Given the description of an element on the screen output the (x, y) to click on. 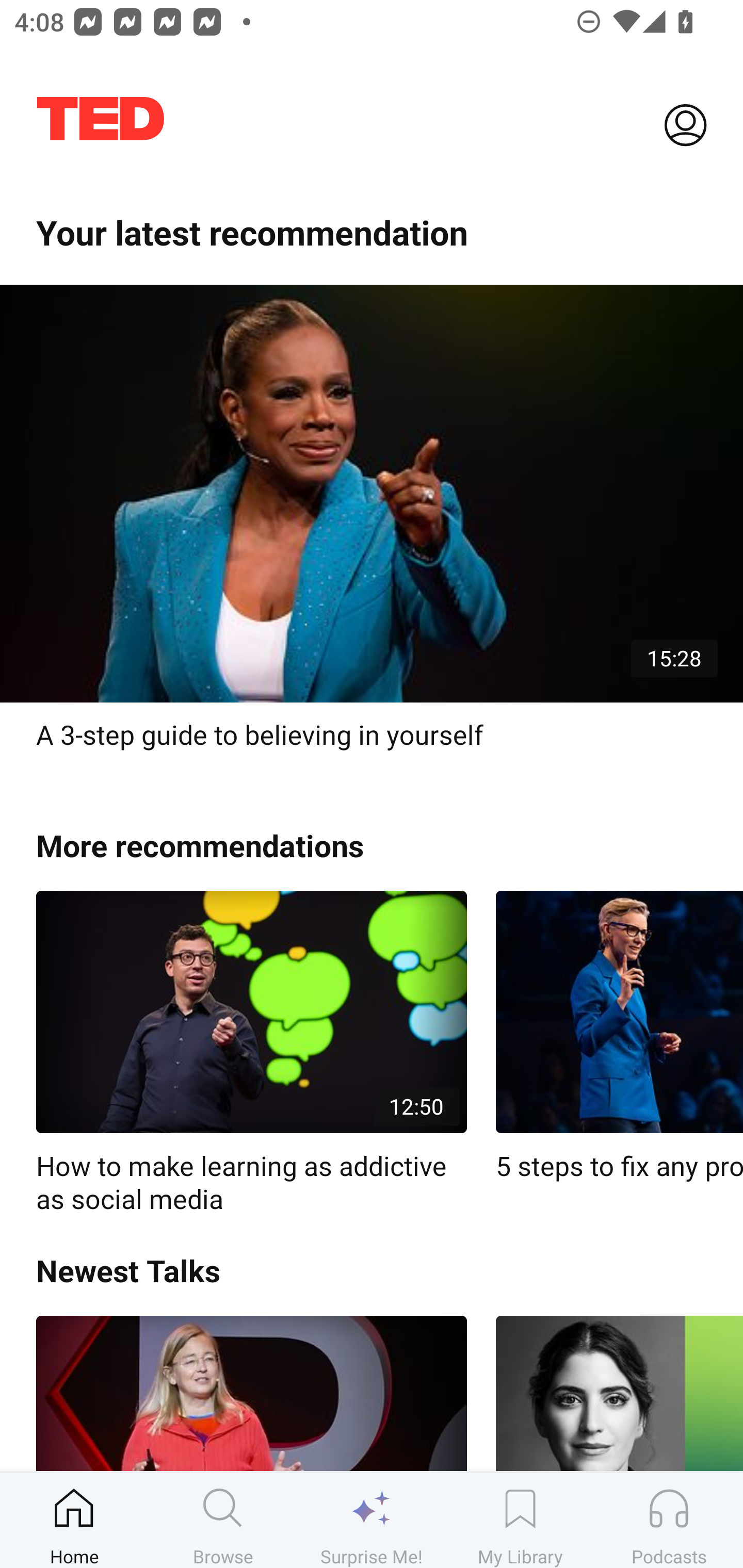
5 steps to fix any problem at work (619, 1036)
Home (74, 1520)
Browse (222, 1520)
Surprise Me! (371, 1520)
My Library (519, 1520)
Podcasts (668, 1520)
